Given the description of an element on the screen output the (x, y) to click on. 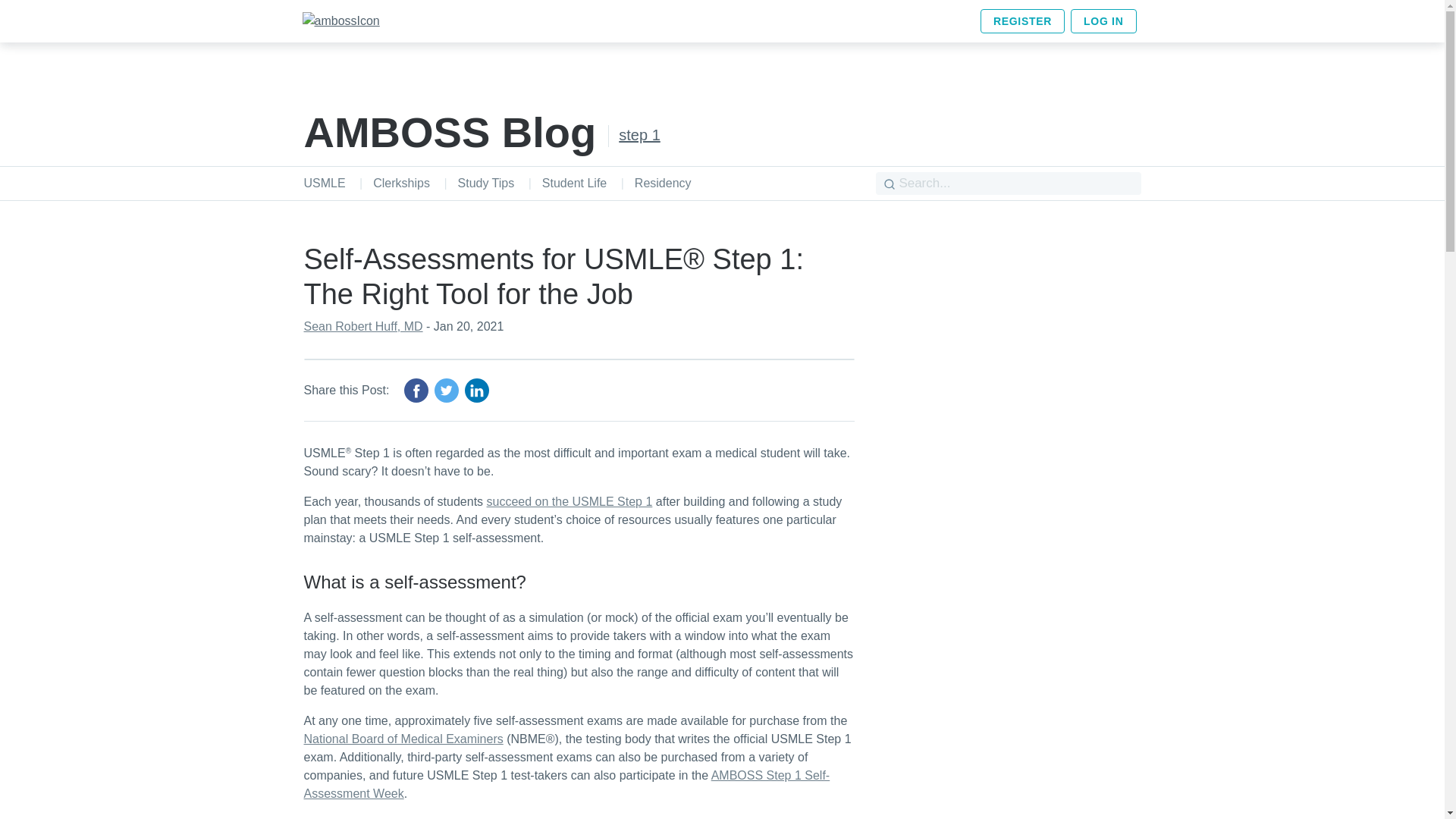
Sean Robert Huff, MD (362, 326)
step 1 (638, 134)
REGISTER (1021, 21)
Student Life (574, 182)
Clerkships (400, 182)
Study Tips (486, 182)
succeed on the USMLE Step 1 (569, 501)
Residency (662, 182)
National Board of Medical Examiners (402, 738)
AMBOSS Blog (448, 132)
